Given the description of an element on the screen output the (x, y) to click on. 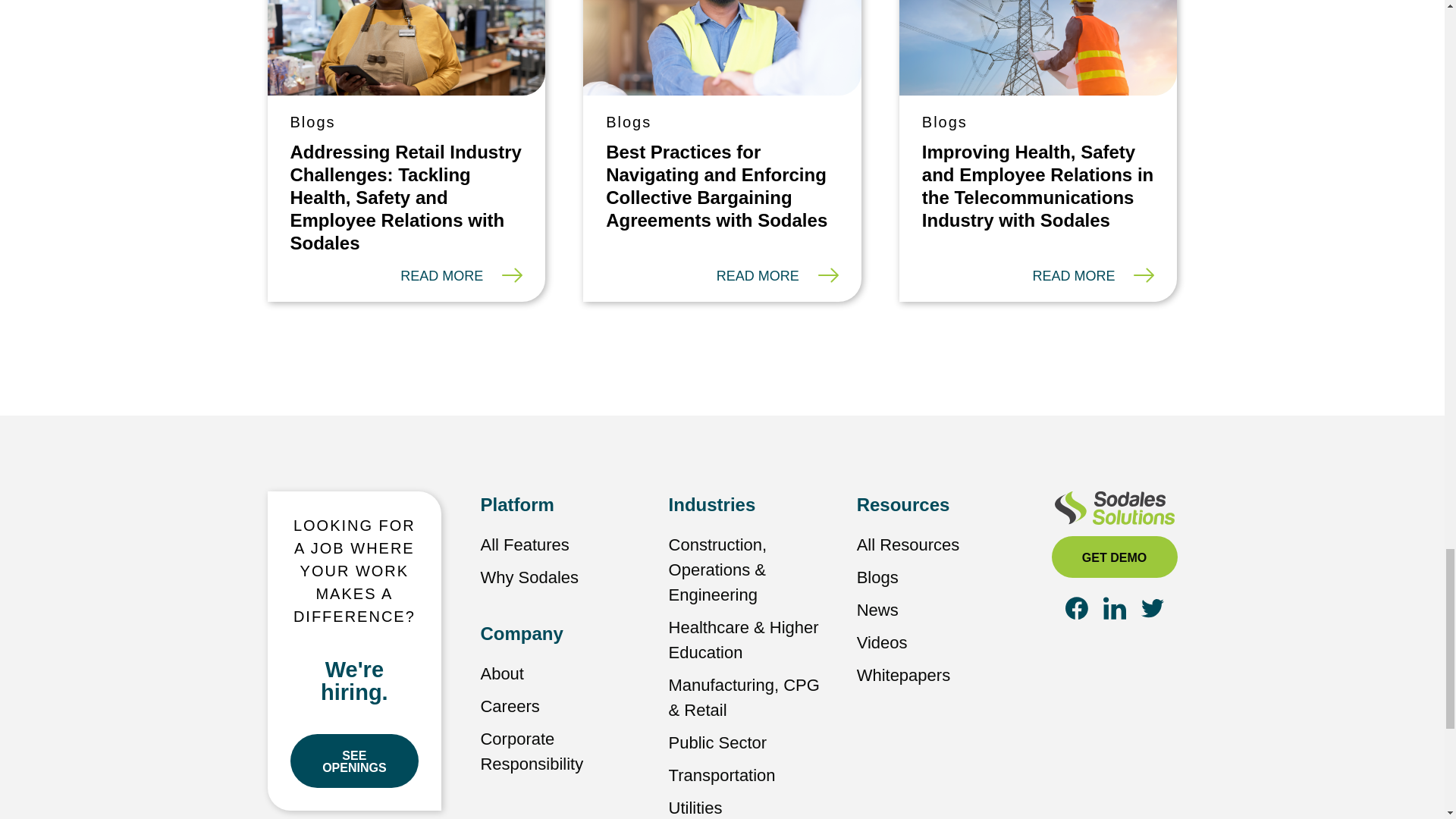
Why Sodales (529, 577)
READ MORE (777, 276)
Careers (509, 705)
About (502, 673)
Corporate Responsibility (531, 751)
SEE OPENINGS (354, 760)
READ MORE (1093, 276)
READ MORE (461, 276)
